Given the description of an element on the screen output the (x, y) to click on. 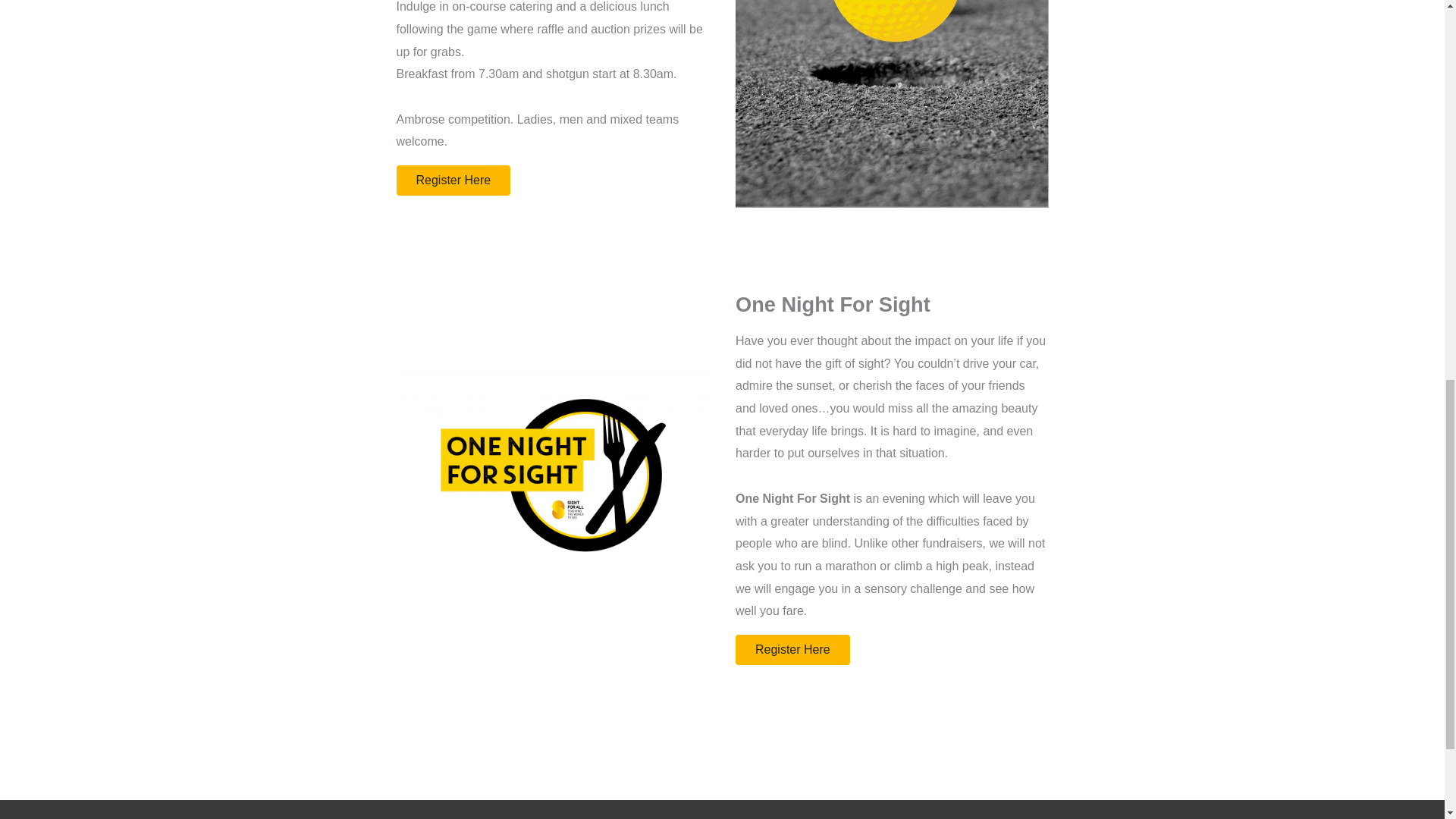
Register Here (453, 180)
Register Here (792, 649)
